Given the description of an element on the screen output the (x, y) to click on. 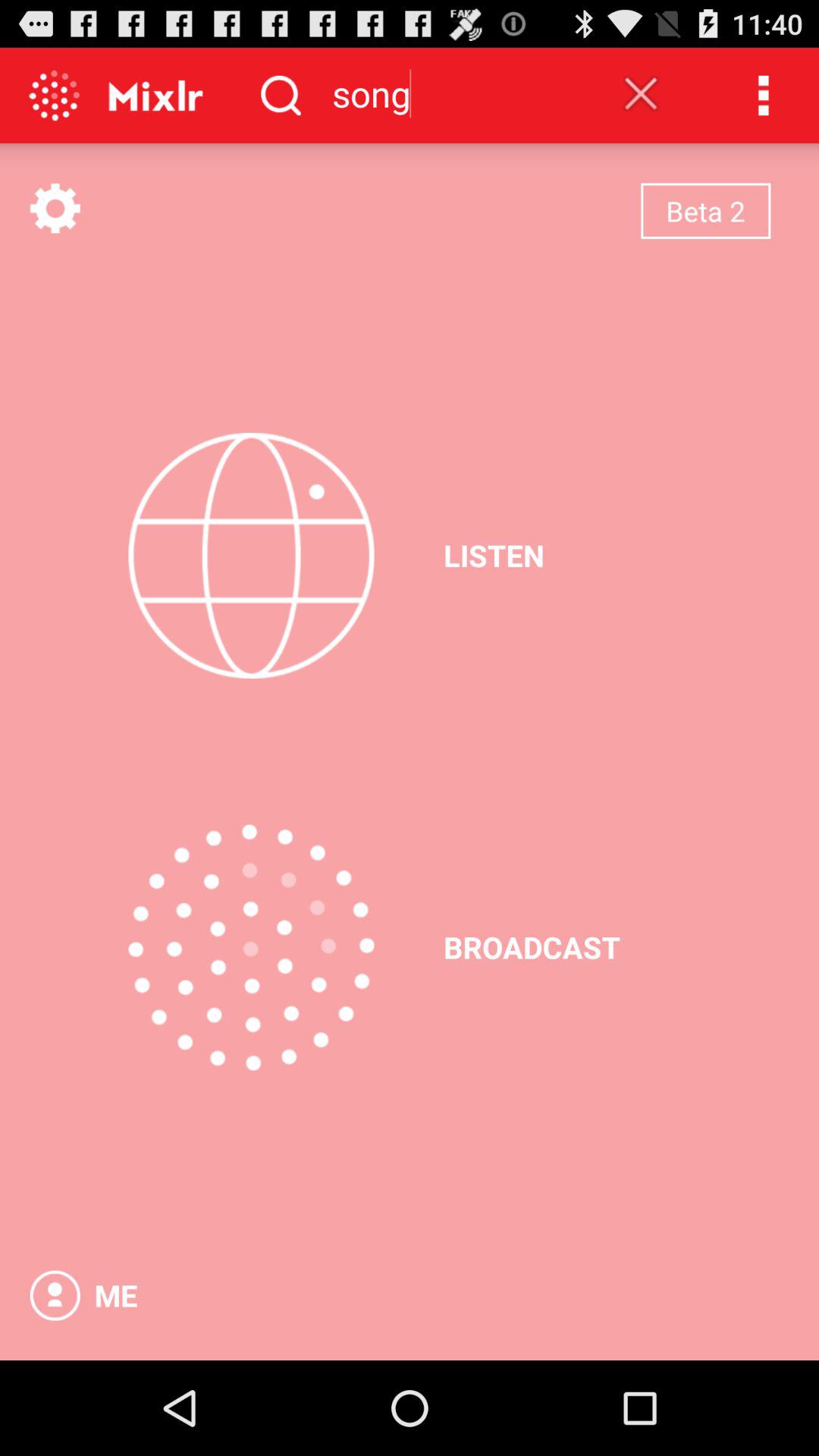
press item next to song icon (640, 93)
